Given the description of an element on the screen output the (x, y) to click on. 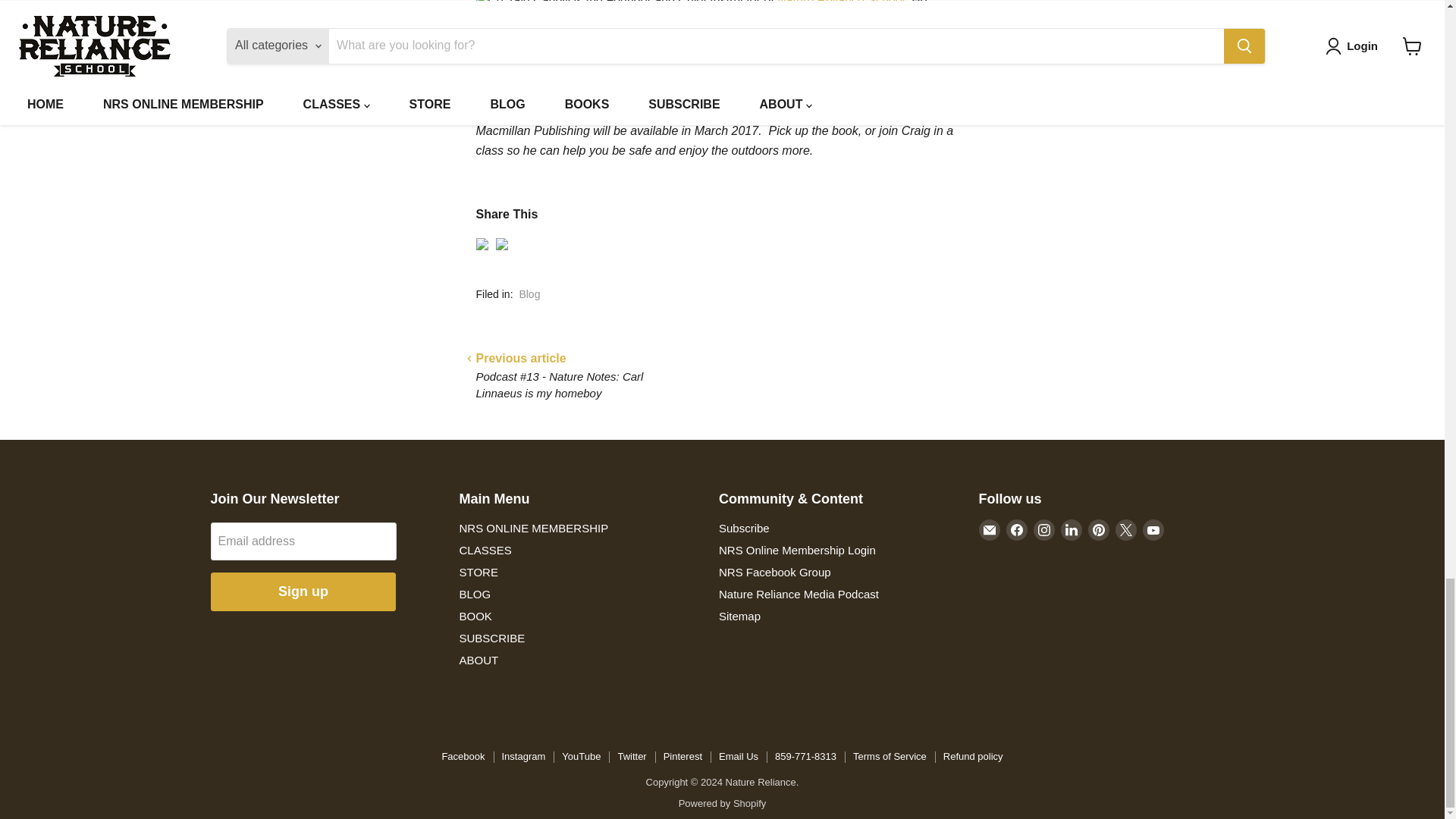
LinkedIn (1070, 529)
Share on Facebook (481, 244)
Show articles tagged Blog (529, 294)
YouTube (1152, 529)
Email (988, 529)
Facebook (1016, 529)
X (1125, 529)
Share on Twitter (502, 244)
Pinterest (1097, 529)
Instagram (1043, 529)
